Given the description of an element on the screen output the (x, y) to click on. 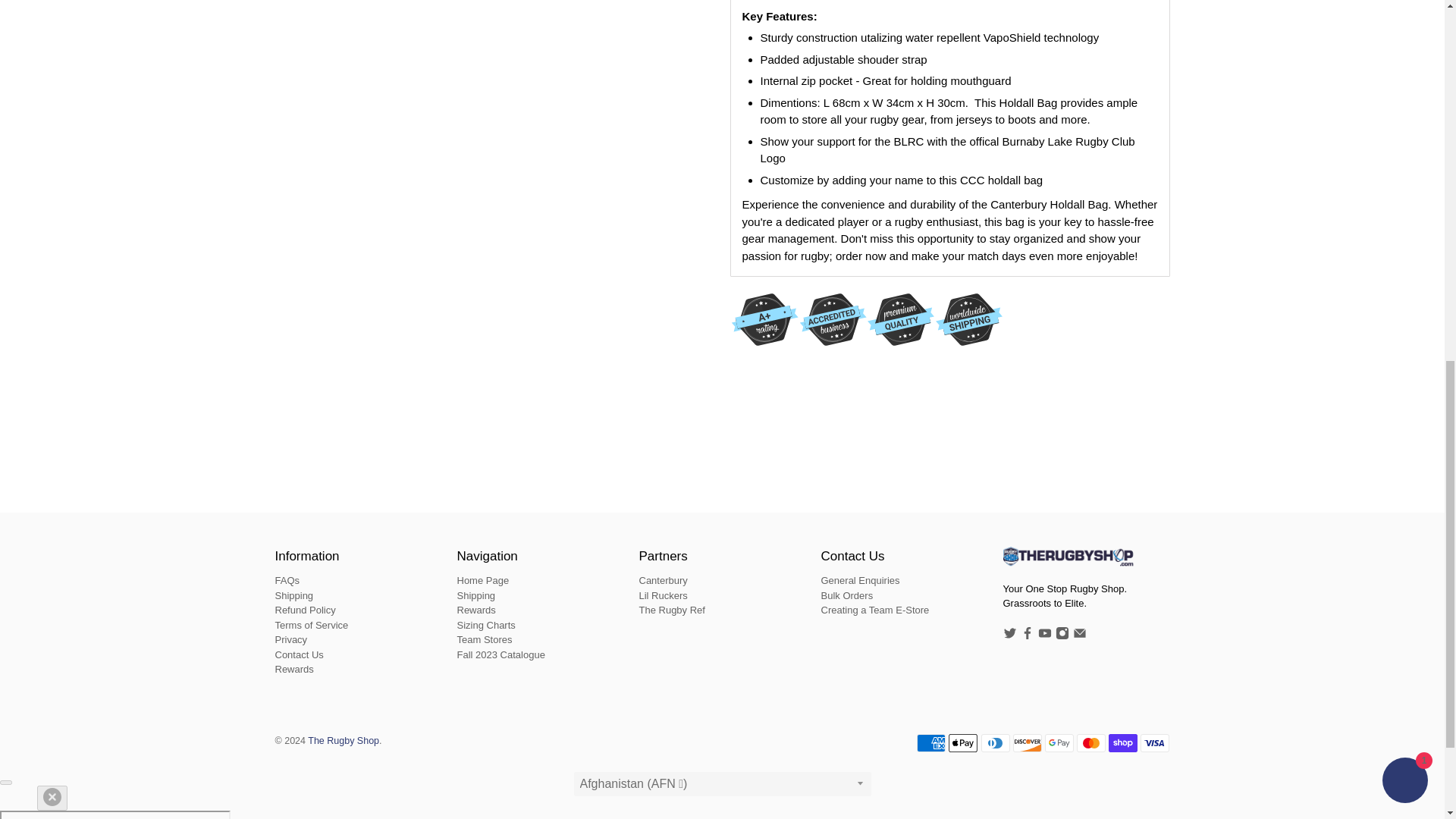
The Rugby Shop on Instagram (1061, 636)
American Express (930, 742)
The Rugby Shop on YouTube (1043, 636)
The Rugby Shop (1069, 564)
Shopify online store chat (1404, 41)
Diners Club (995, 742)
The Rugby Shop on Twitter (1009, 636)
The Rugby Shop on Facebook (1026, 636)
Email The Rugby Shop (1078, 636)
Apple Pay (962, 742)
